Given the description of an element on the screen output the (x, y) to click on. 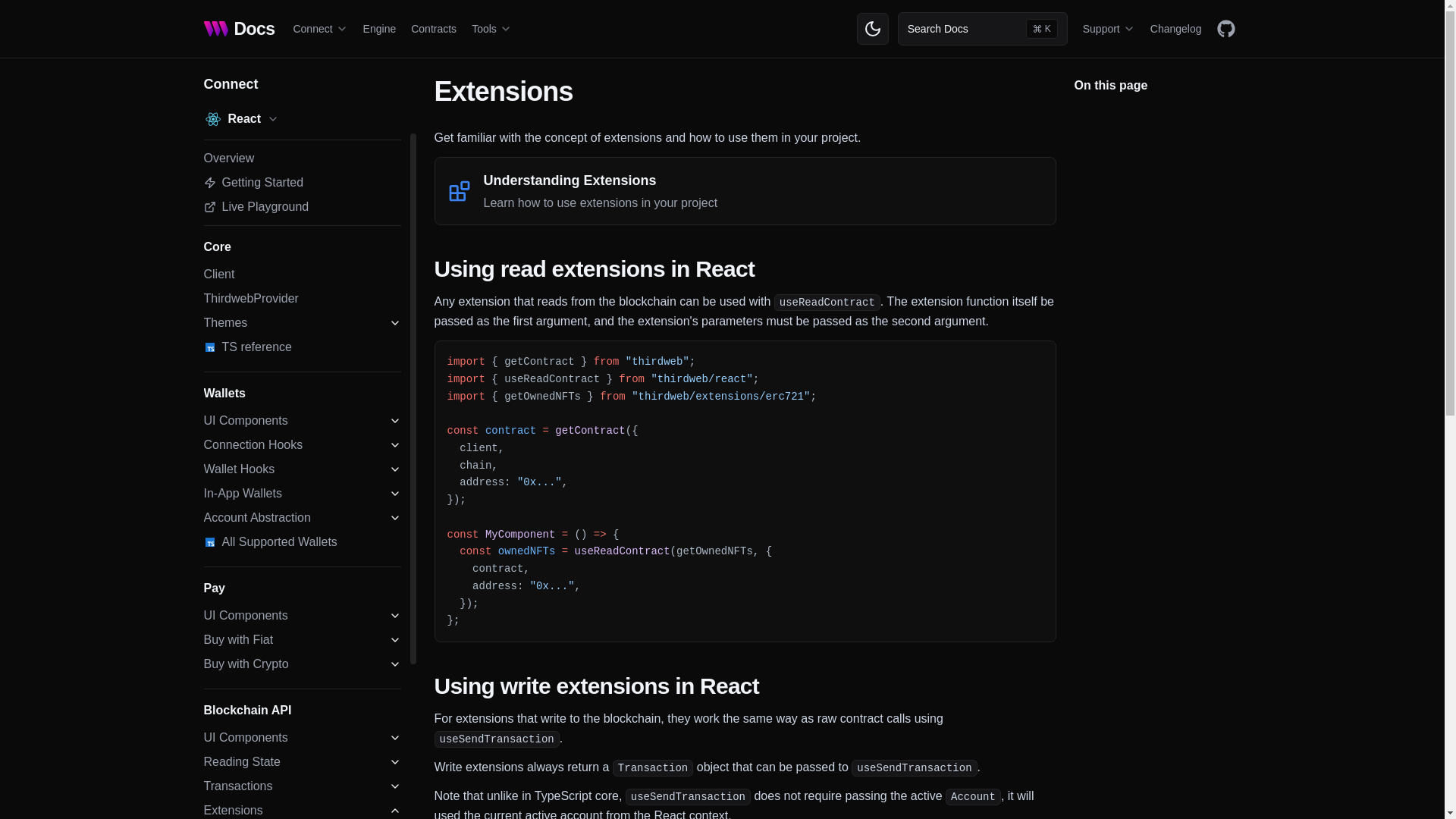
Using read extensions in React (744, 268)
Support (1109, 28)
Engine (379, 28)
Docs (239, 28)
thirdweb Docs (239, 28)
Live Playground (301, 206)
Getting Started (301, 182)
ThirdwebProvider (301, 298)
Connect (319, 28)
Changelog (1176, 28)
